Given the description of an element on the screen output the (x, y) to click on. 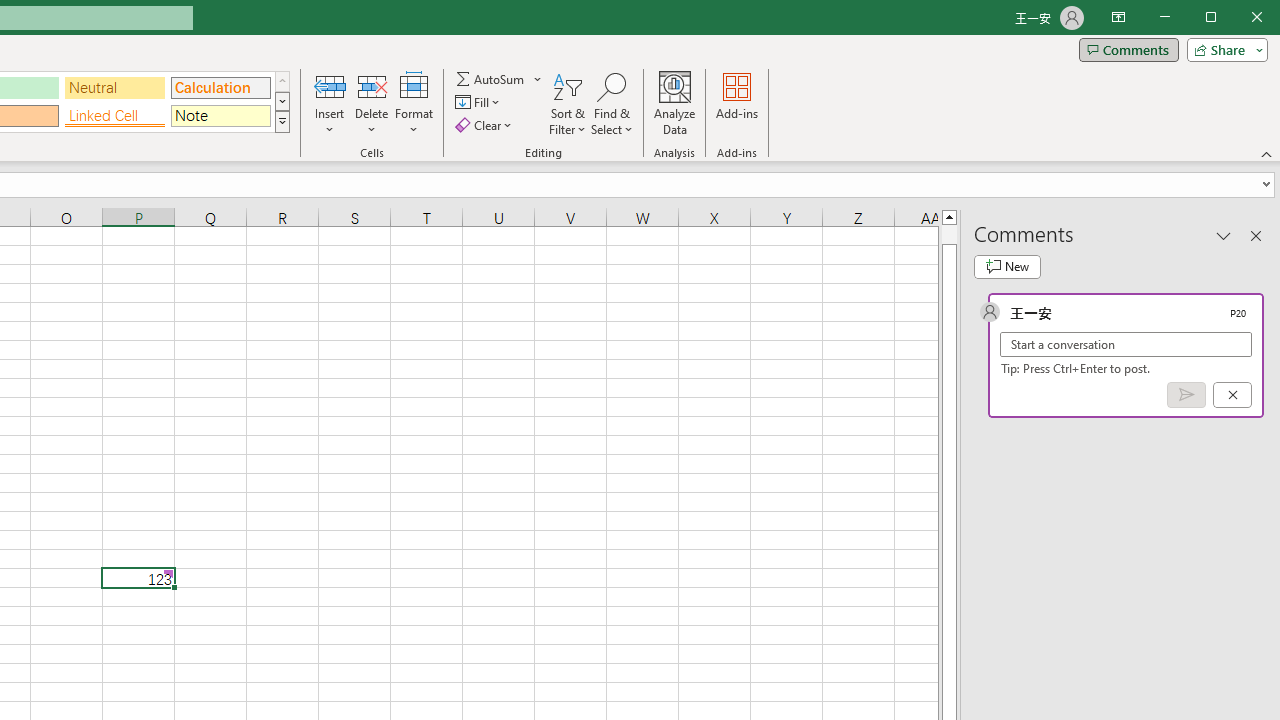
Post comment (Ctrl + Enter) (1186, 395)
Header & Footer... (60, 104)
Ribbon Display Options (1118, 17)
Minimize (1217, 18)
Equation (275, 104)
Line up (948, 216)
Signature Line (164, 104)
Cancel (1232, 395)
Share (1223, 49)
WordArt (111, 104)
